Given the description of an element on the screen output the (x, y) to click on. 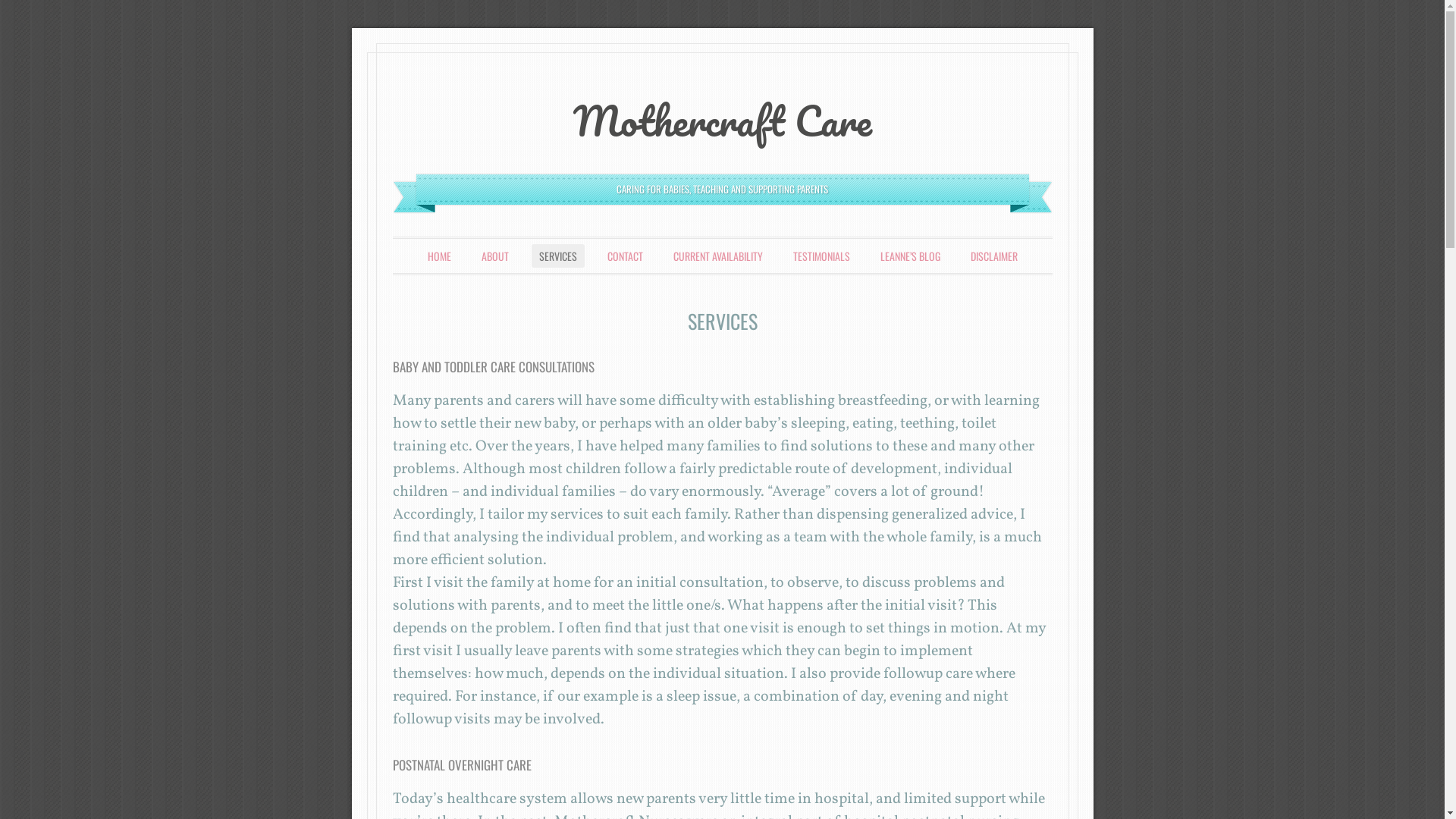
SERVICES Element type: text (556, 255)
Mothercraft Care Element type: text (722, 120)
CONTACT Element type: text (624, 255)
TESTIMONIALS Element type: text (821, 255)
DISCLAIMER Element type: text (994, 255)
CURRENT AVAILABILITY Element type: text (717, 255)
HOME Element type: text (439, 255)
SKIP TO CONTENT Element type: text (442, 255)
ABOUT Element type: text (494, 255)
